Given the description of an element on the screen output the (x, y) to click on. 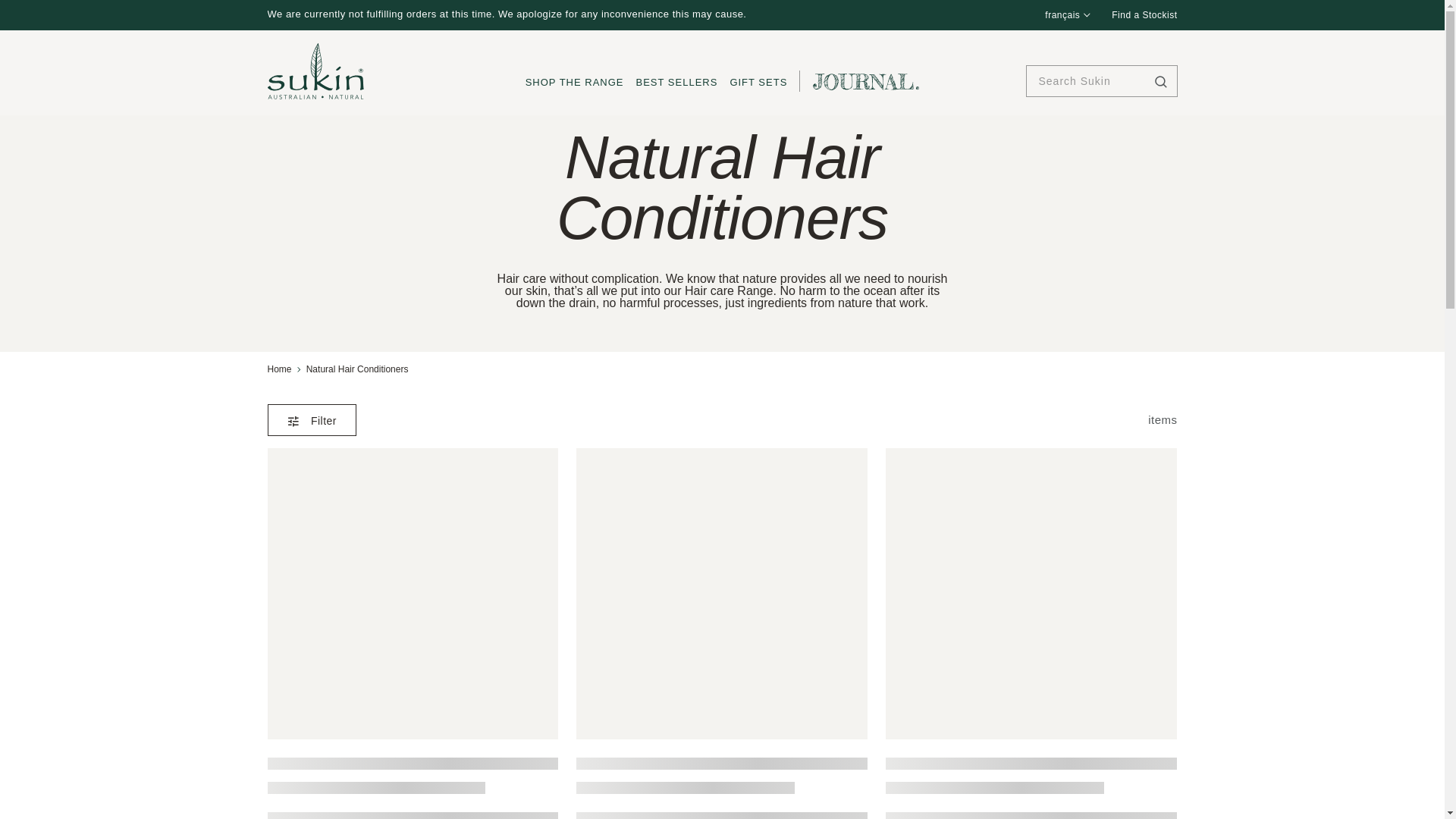
Find a Stockist (1144, 14)
Logo Logo Icon (314, 71)
Find a Stockist (1144, 14)
Filter Filter Icon (292, 420)
Search Search Icon (1160, 81)
